Given the description of an element on the screen output the (x, y) to click on. 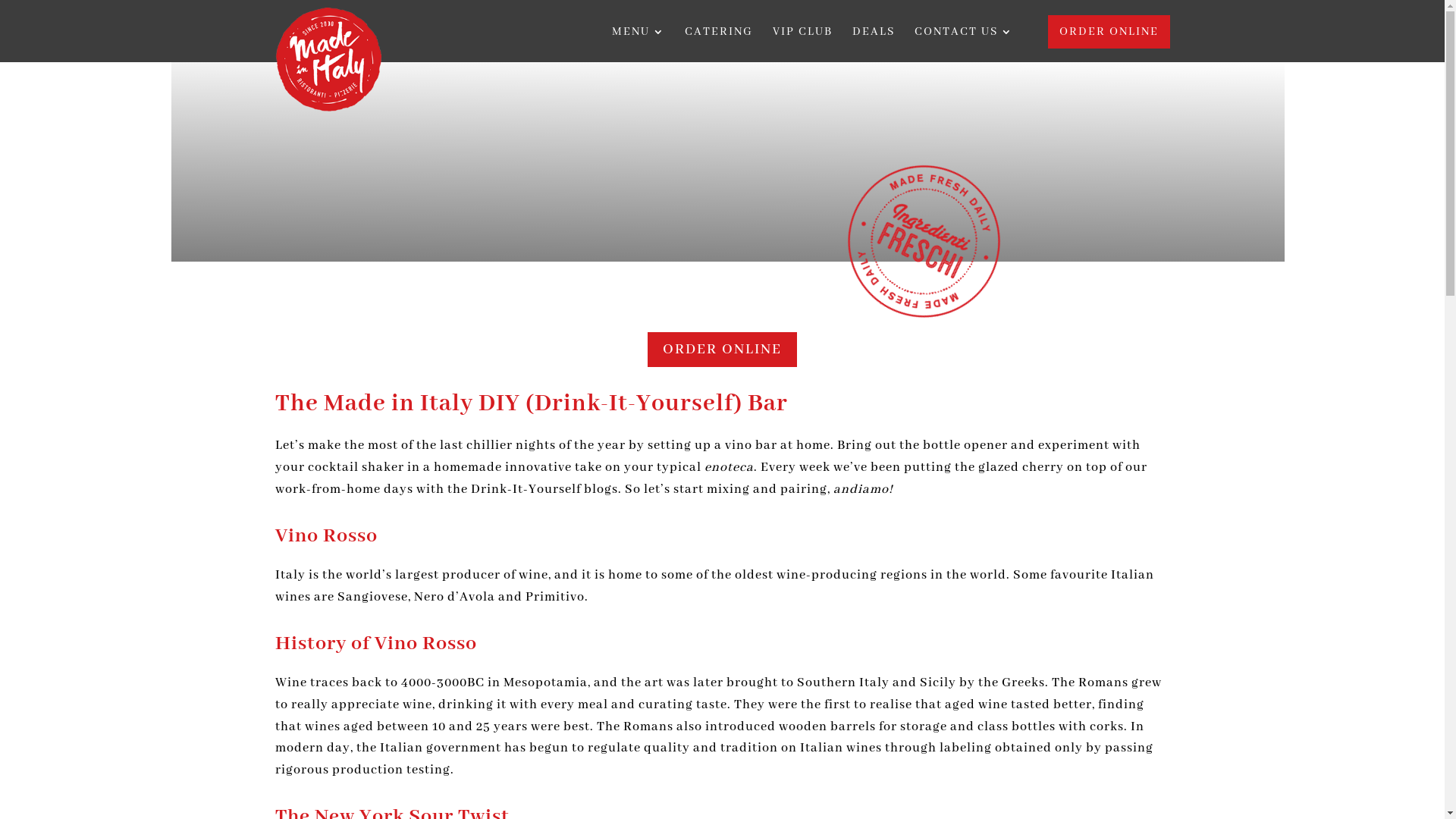
ORDER ONLINE Element type: text (722, 349)
DEALS Element type: text (873, 44)
CATERING Element type: text (718, 44)
VIP CLUB Element type: text (801, 44)
ORDER ONLINE Element type: text (1109, 31)
MENU Element type: text (637, 44)
CONTACT US Element type: text (963, 44)
